Given the description of an element on the screen output the (x, y) to click on. 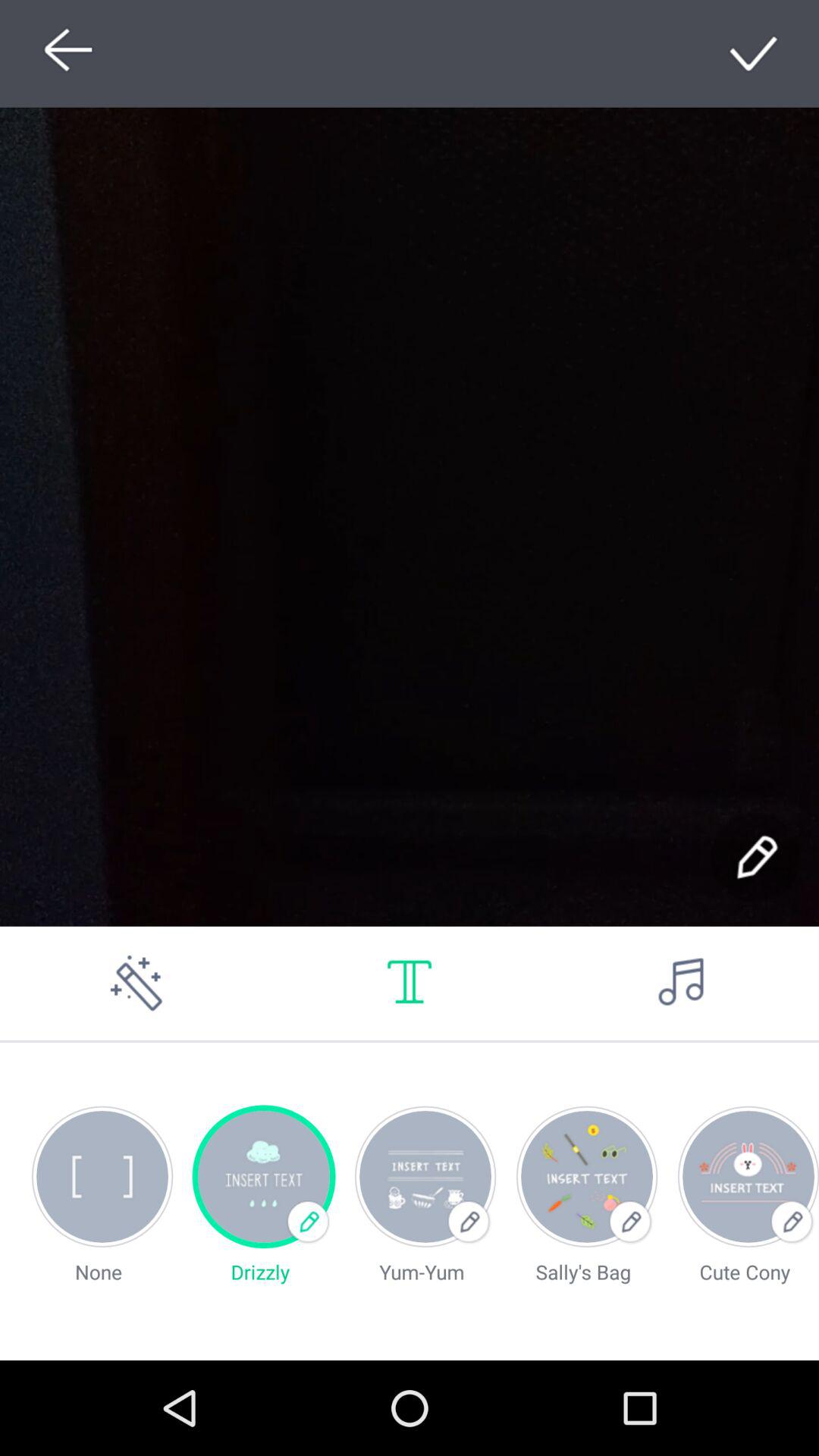
toggle filter option (136, 983)
